Given the description of an element on the screen output the (x, y) to click on. 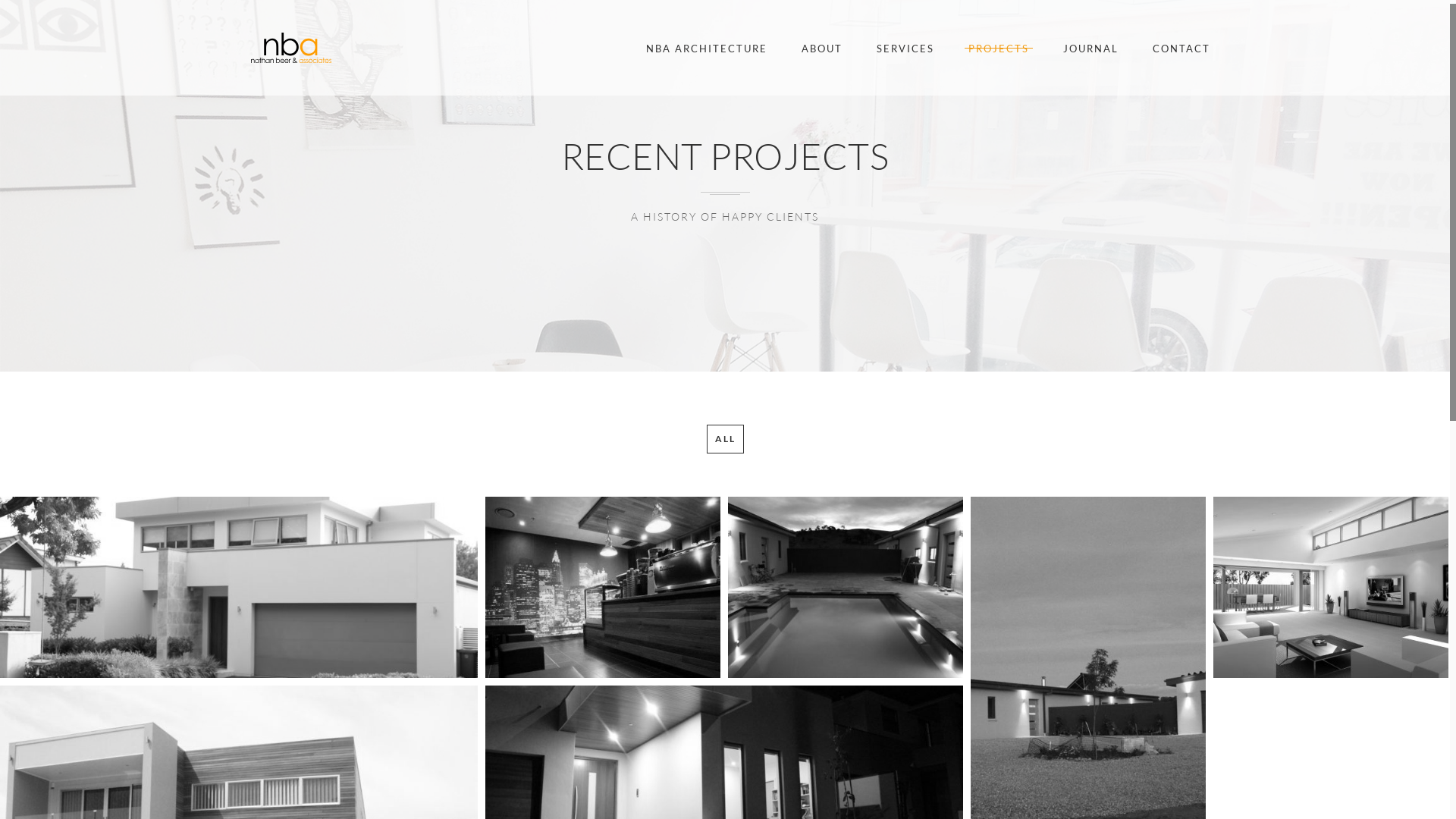
CONTACT Element type: text (1181, 47)
NBA ARCHITECTURE Element type: text (706, 47)
JOURNAL Element type: text (1090, 47)
NBA Architecture Element type: hover (290, 47)
ALL Element type: text (724, 438)
PROJECTS Element type: text (998, 47)
SERVICES Element type: text (905, 47)
ABOUT Element type: text (821, 47)
